Given the description of an element on the screen output the (x, y) to click on. 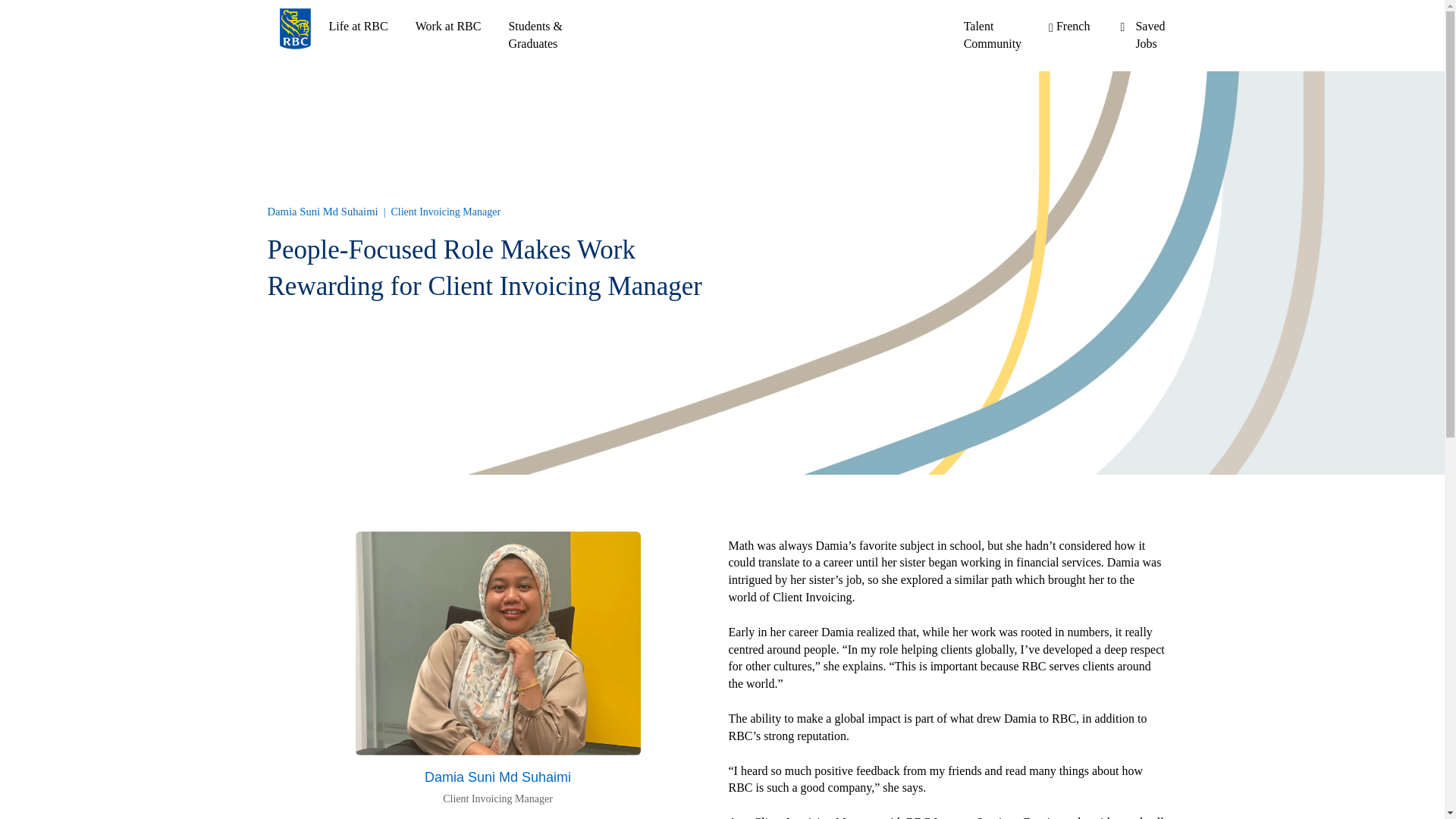
Redirects to French Version of Site (1149, 34)
Work at RBC (1068, 26)
French (447, 26)
Life at RBC (1068, 26)
